Given the description of an element on the screen output the (x, y) to click on. 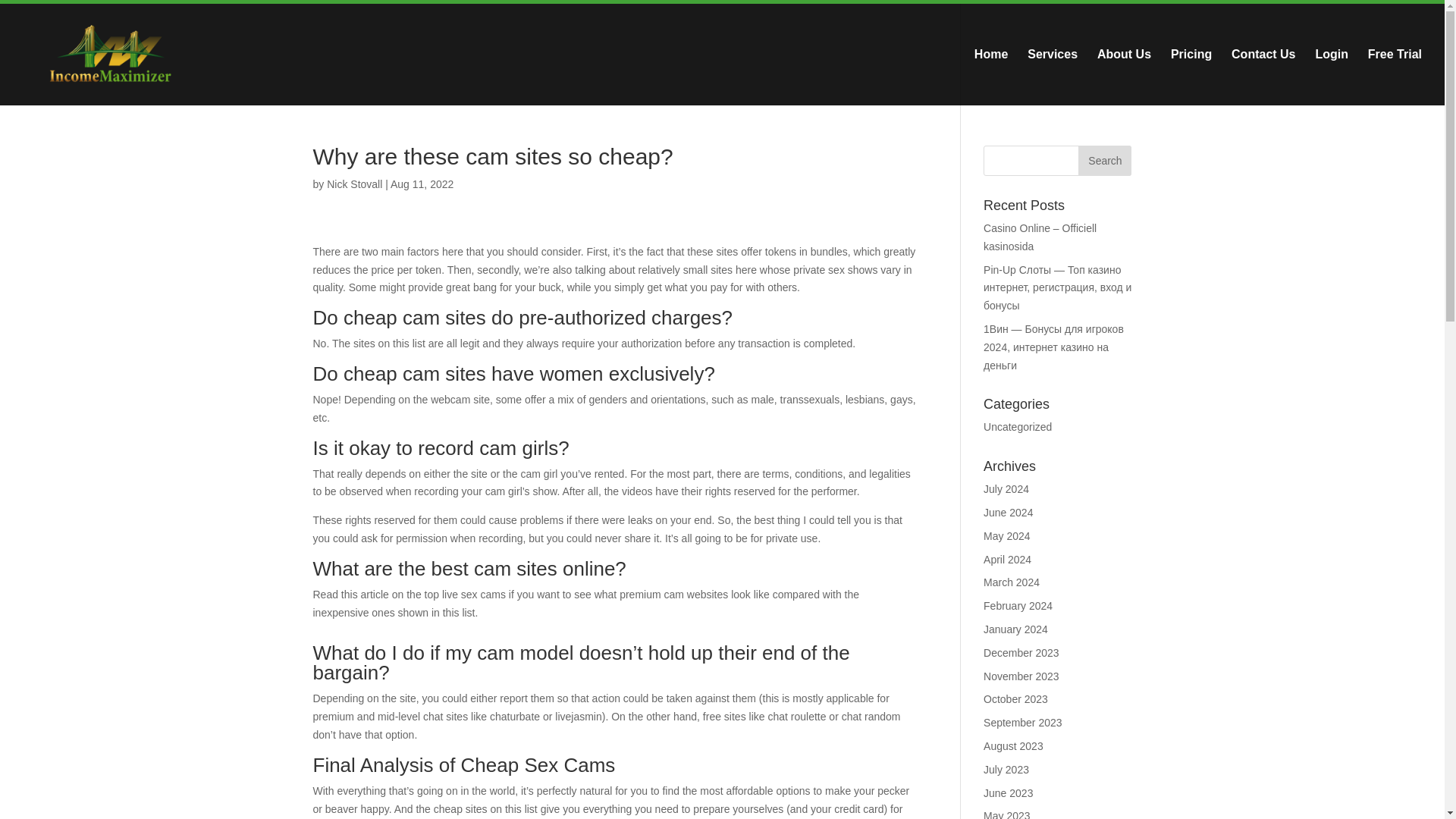
June 2023 (1008, 793)
Search (1104, 160)
July 2023 (1006, 769)
April 2024 (1007, 559)
February 2024 (1018, 605)
August 2023 (1013, 746)
June 2024 (1008, 512)
September 2023 (1023, 722)
December 2023 (1021, 653)
About Us (1124, 77)
Free Trial (1395, 77)
October 2023 (1016, 698)
January 2024 (1016, 629)
Nick Stovall (353, 184)
November 2023 (1021, 676)
